Given the description of an element on the screen output the (x, y) to click on. 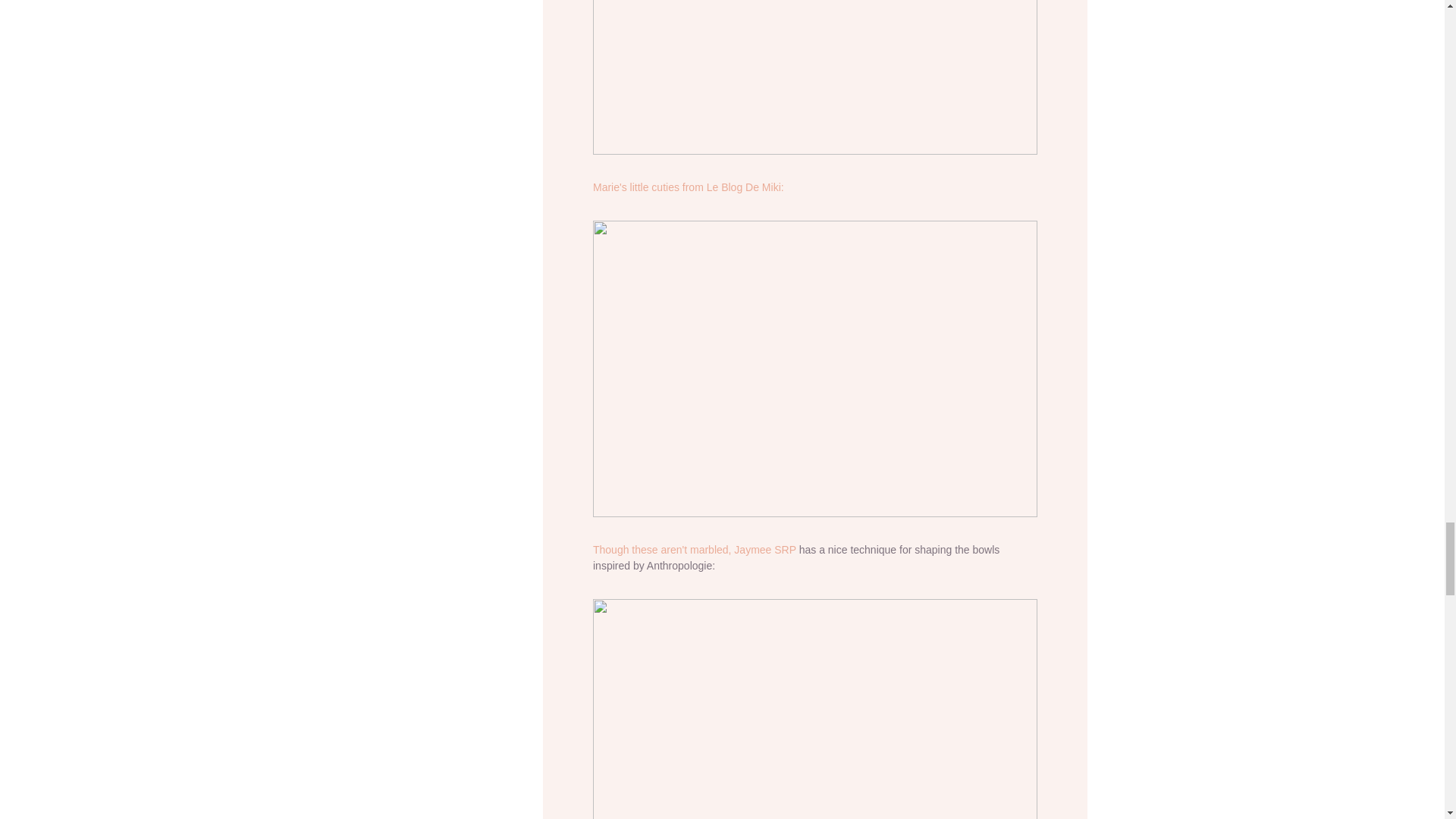
Jaymee SRP (763, 549)
Though these aren't marbled,  (662, 549)
Marie's little cuties from Le Blog De Miki: (688, 186)
